Given the description of an element on the screen output the (x, y) to click on. 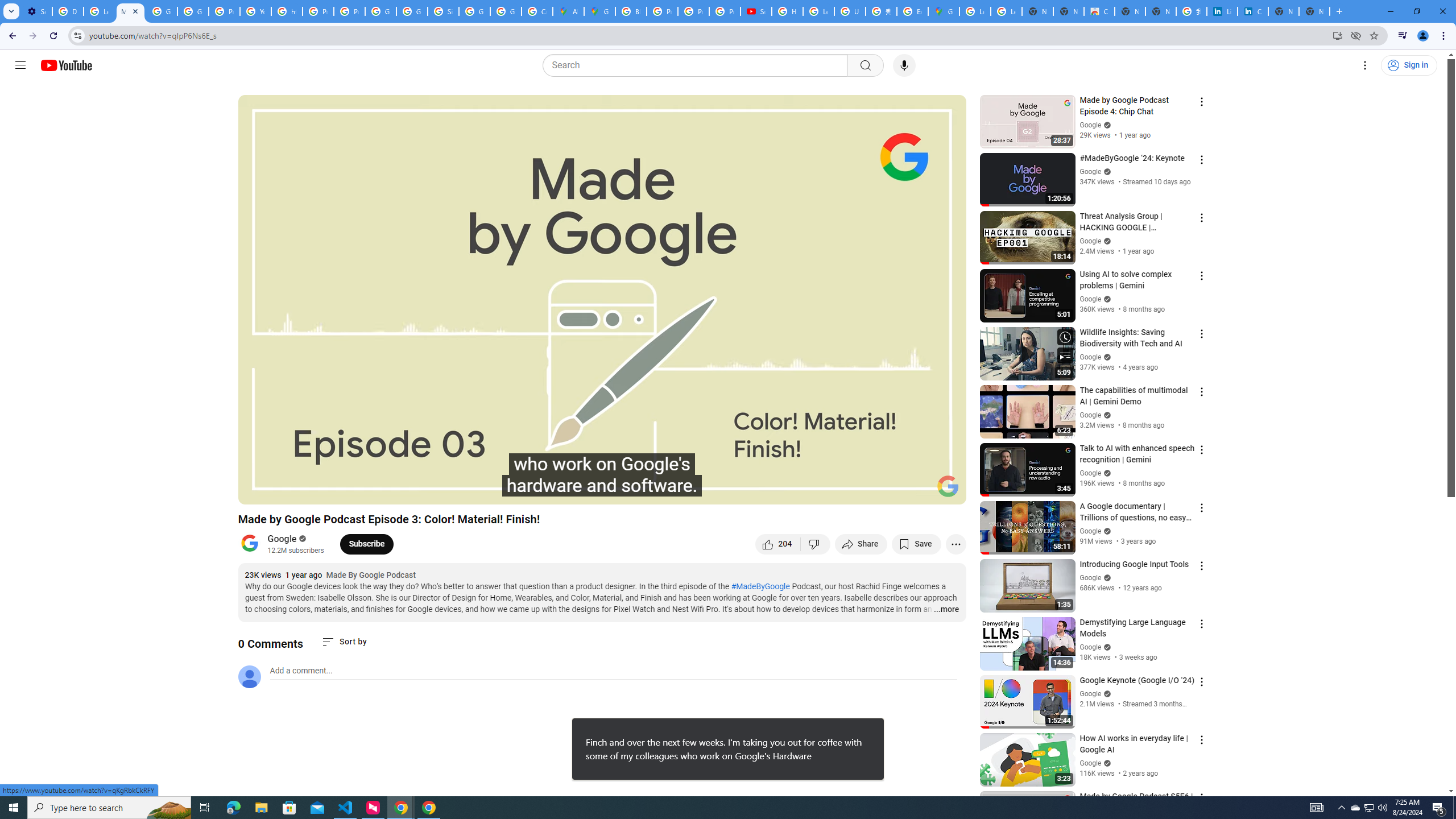
Search with your voice (903, 65)
...more (946, 609)
Action menu (1200, 798)
AutomationID: simplebox-placeholder (301, 670)
Copyright Policy (1252, 11)
Subscribe to Google. (366, 543)
Explore new street-level details - Google Maps Help (912, 11)
Channel watermark (947, 486)
